Given the description of an element on the screen output the (x, y) to click on. 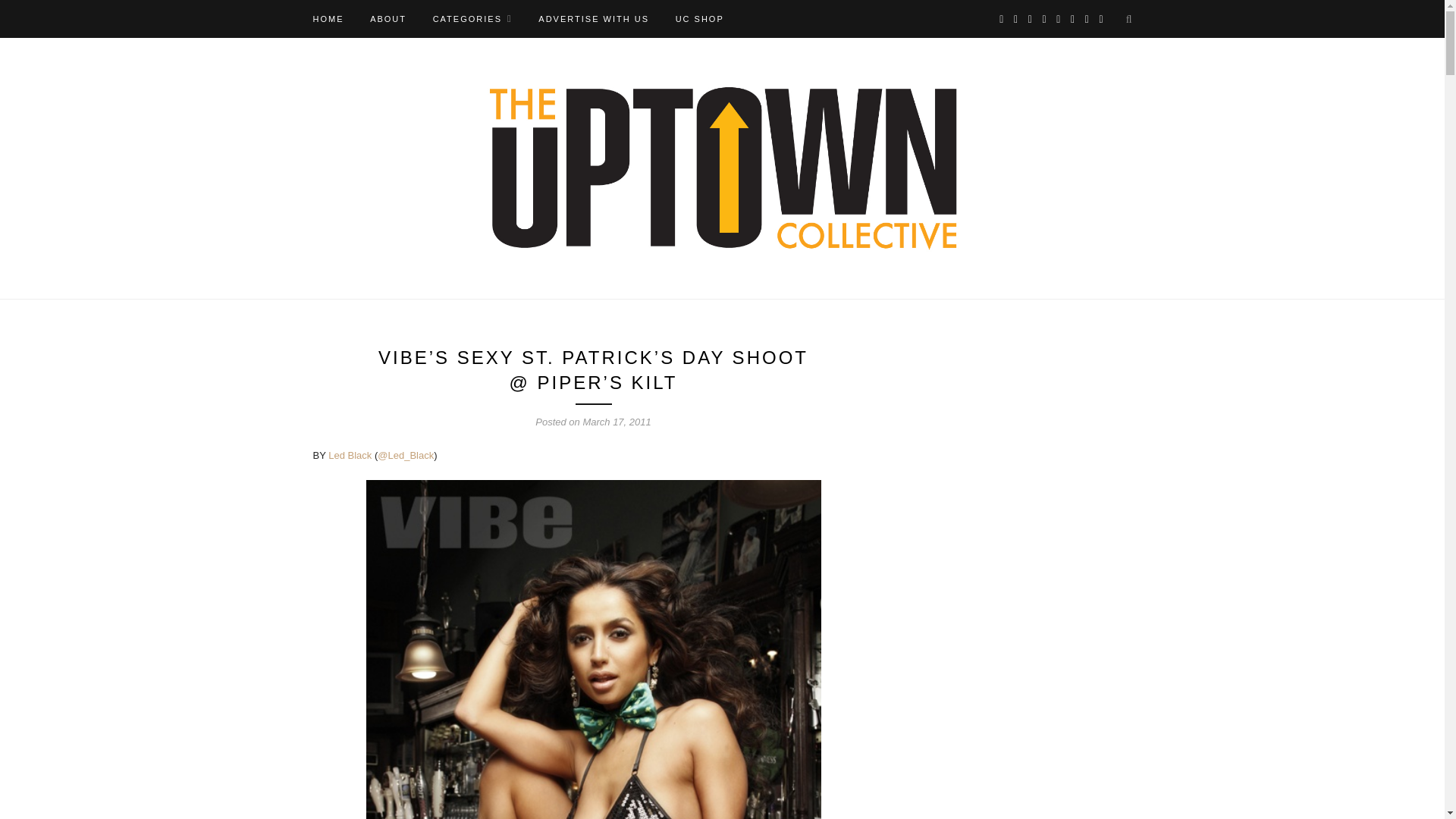
UC SHOP (699, 18)
CATEGORIES (472, 18)
ADVERTISE WITH US (593, 18)
ABOUT (387, 18)
Led Black (350, 455)
